Given the description of an element on the screen output the (x, y) to click on. 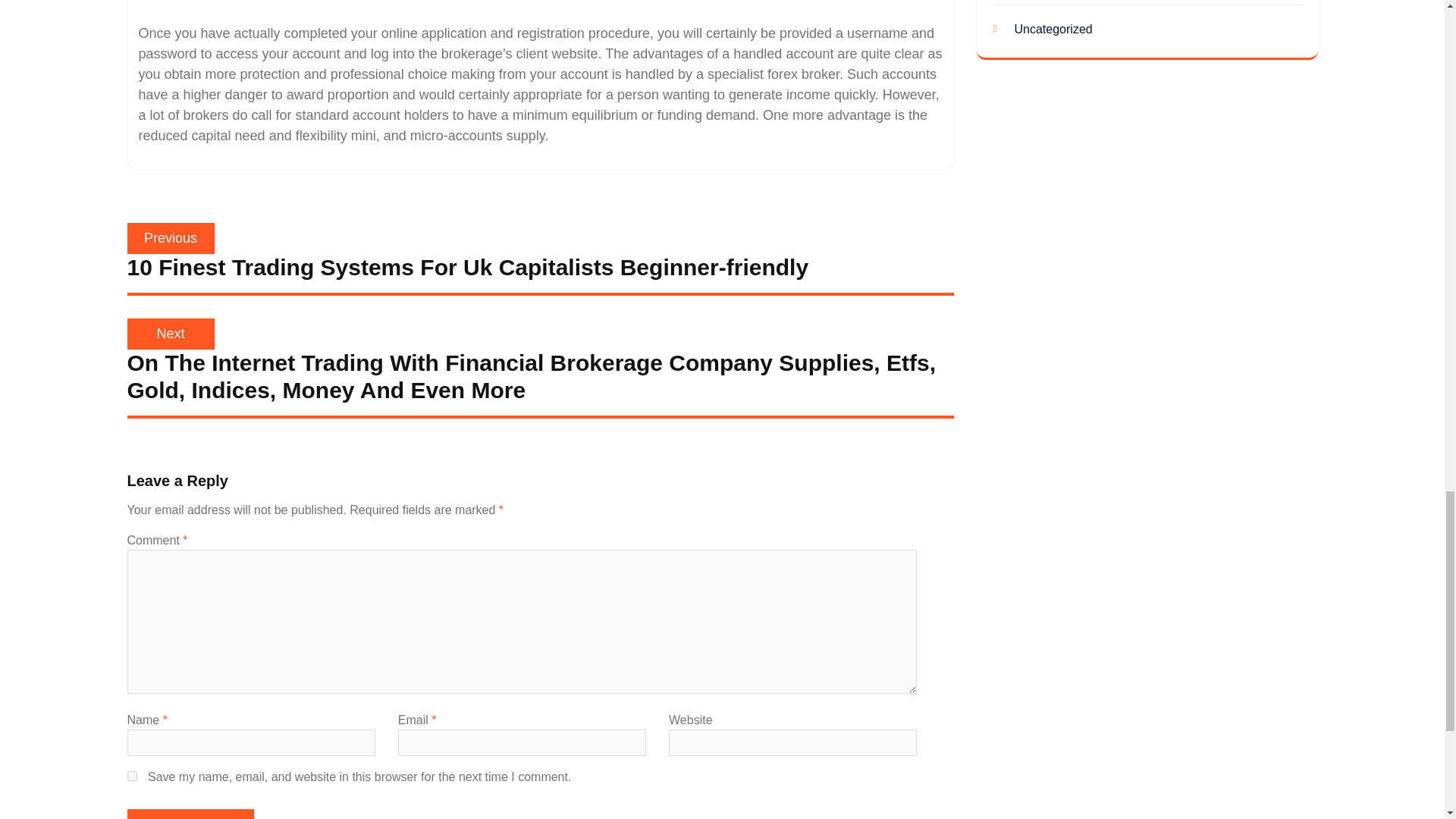
Post Comment (190, 814)
Post Comment (190, 814)
yes (132, 776)
